Given the description of an element on the screen output the (x, y) to click on. 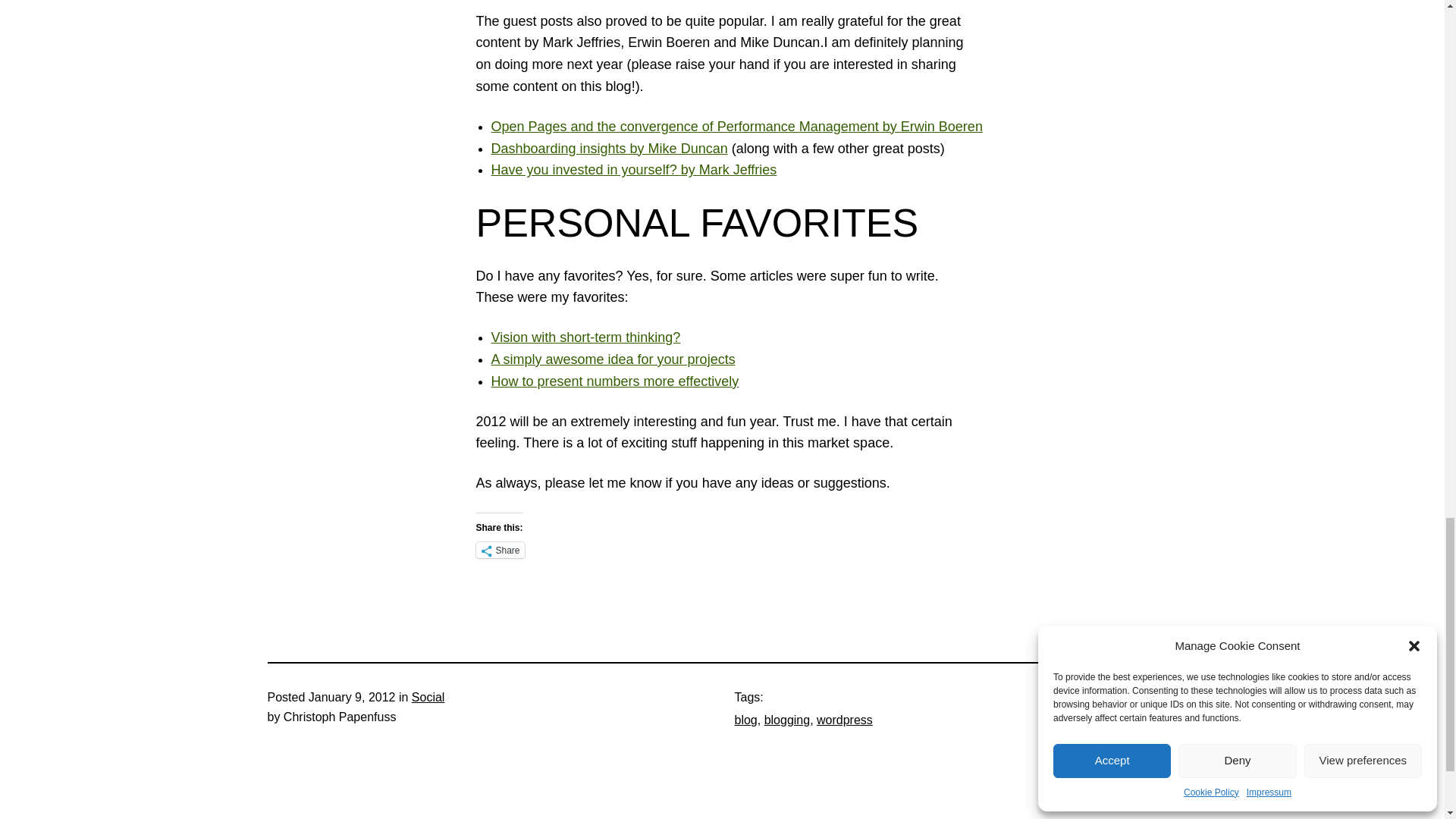
A simply awesome idea for your projects (613, 359)
Dashboarding insights by Mike Duncan (610, 148)
How to present numbers more effectively (615, 381)
Vision with short-term thinking? (586, 337)
Open Pages and the convergence of Performance Management (737, 126)
Have you invested in yourself? by Mark Jeffries (634, 169)
